Given the description of an element on the screen output the (x, y) to click on. 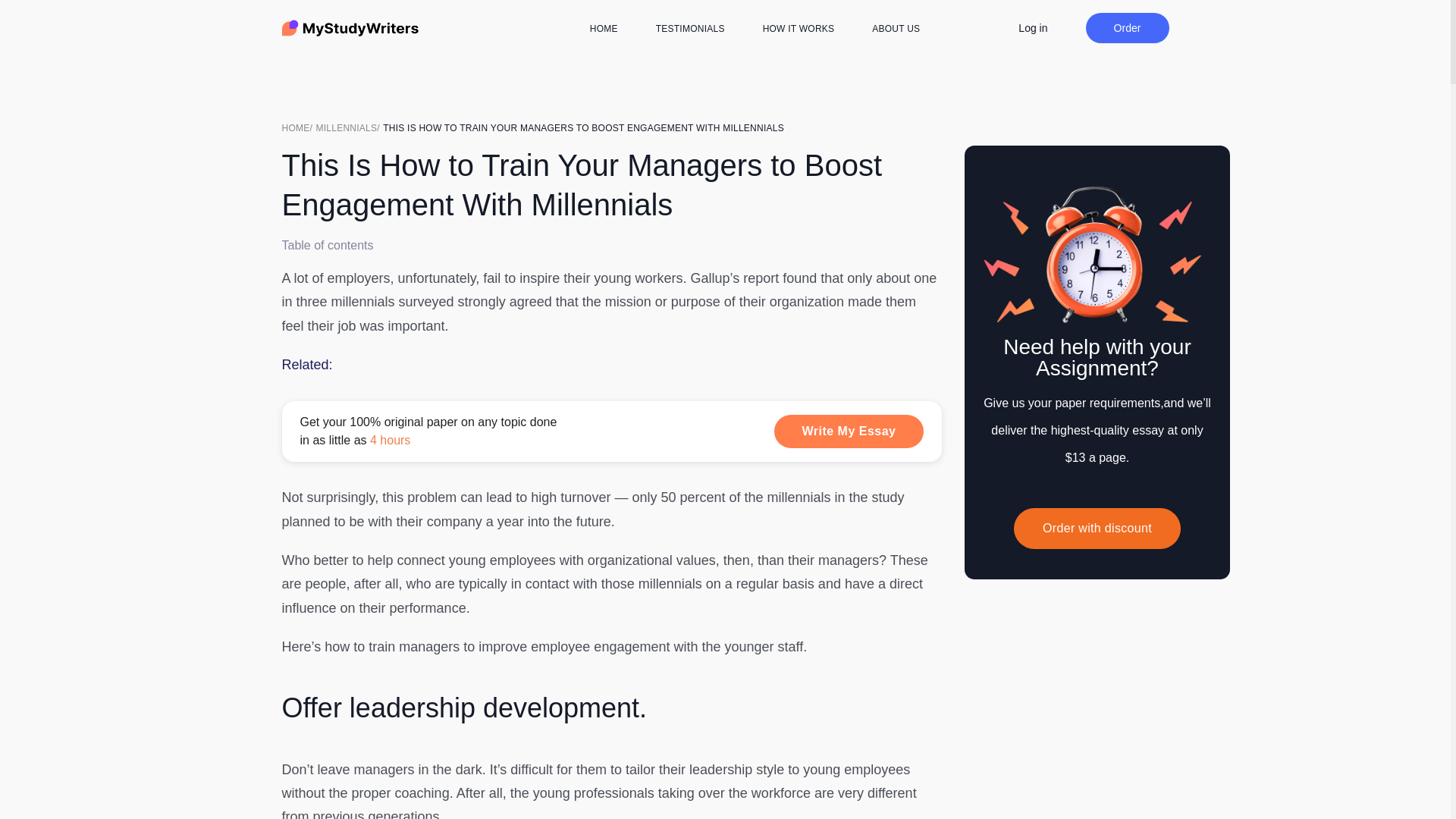
Write My Essay (848, 430)
HOW IT WORKS (798, 28)
HOME (603, 28)
Order (1127, 28)
Log in (1031, 27)
TESTIMONIALS (690, 28)
Learn More (612, 431)
HOME (298, 126)
ABOUT US (896, 28)
Order with discount (1096, 527)
